Given the description of an element on the screen output the (x, y) to click on. 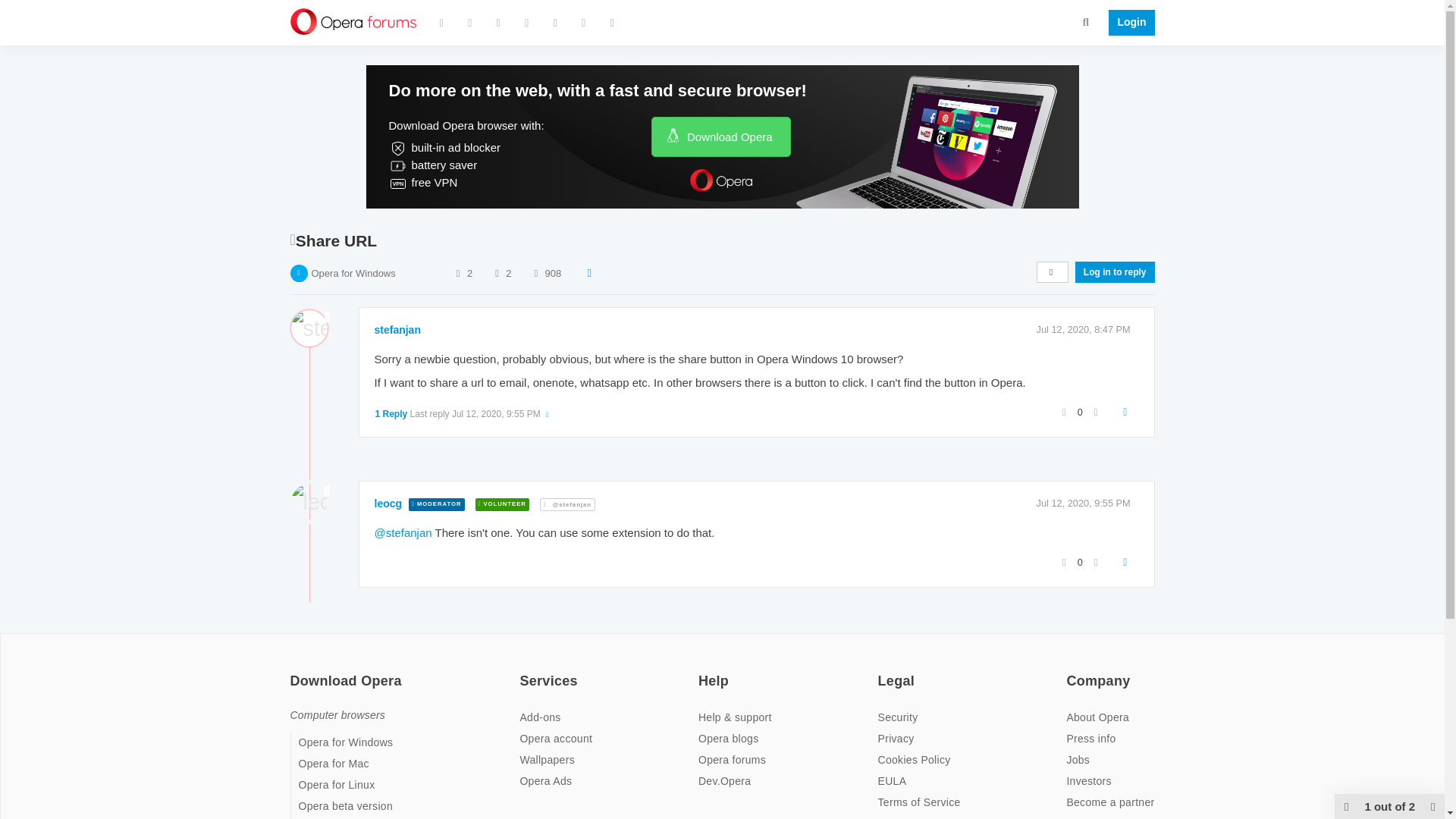
Search (1085, 21)
Jul 12, 2020, 8:47 PM (1083, 328)
on (702, 670)
Log in to reply (1114, 271)
Download Opera (720, 137)
Login (1127, 22)
stefanjan (397, 329)
Opera for Windows (352, 273)
on (523, 670)
on (1070, 670)
on (293, 670)
on (881, 670)
